Given the description of an element on the screen output the (x, y) to click on. 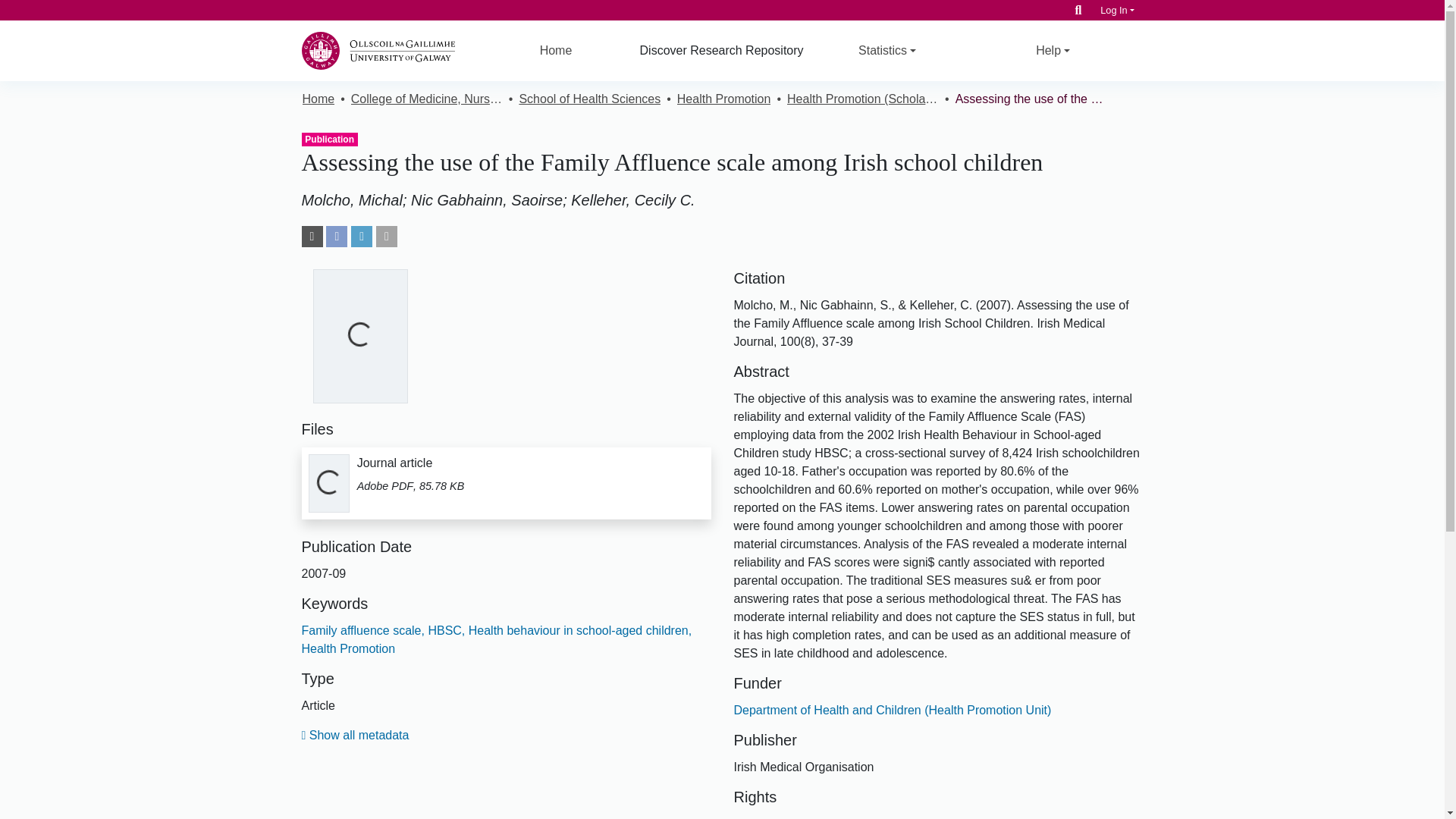
Home (556, 50)
Family affluence scale, (363, 630)
Home (317, 99)
School of Health Sciences (589, 99)
Health Promotion (506, 483)
Search (724, 99)
College of Medicine, Nursing and Health Sciences (1078, 10)
HBSC, (426, 99)
Statistics (444, 630)
